Given the description of an element on the screen output the (x, y) to click on. 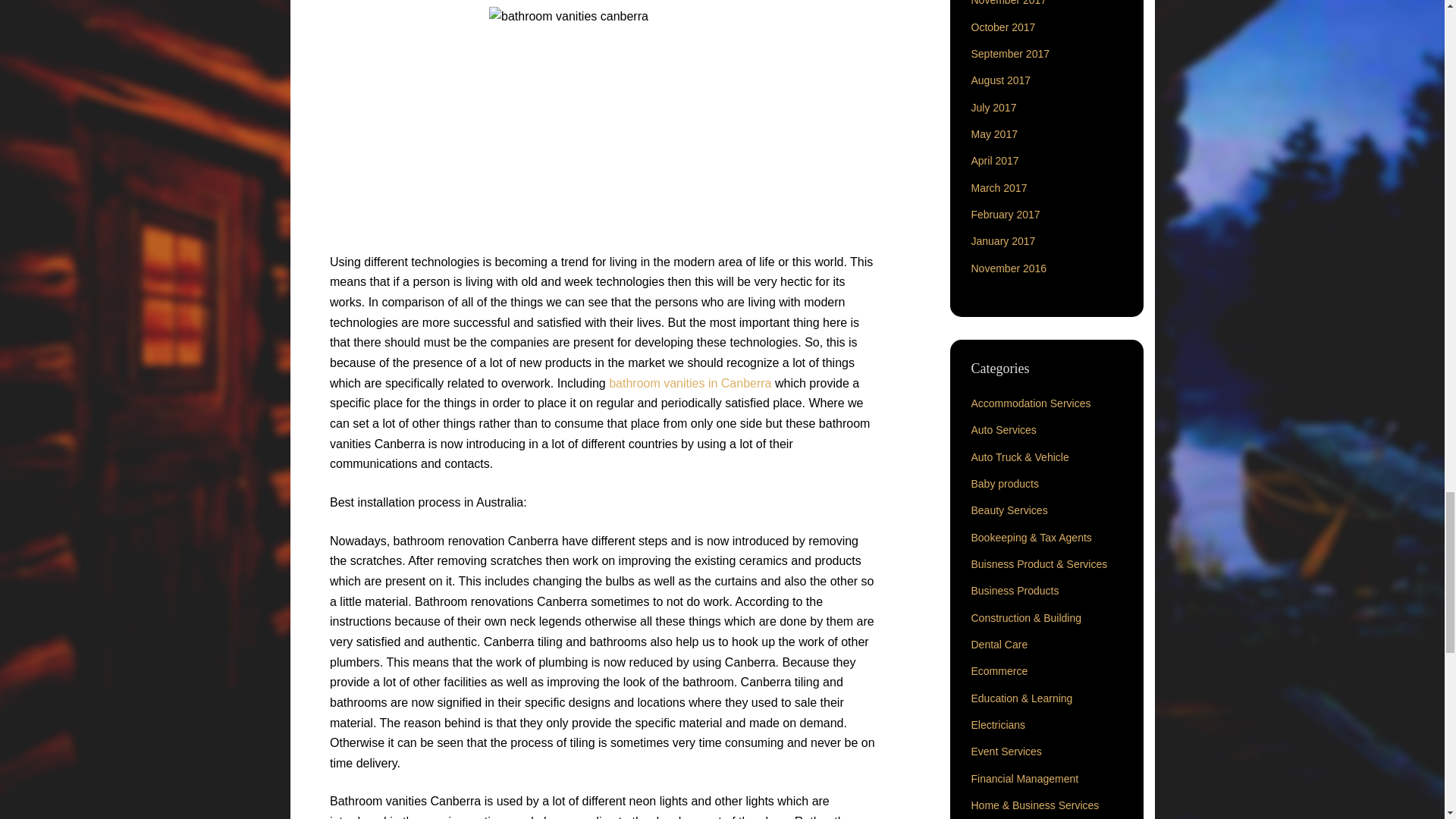
bathroom vanities in Canberra (688, 382)
bathroom vanities canberra (602, 120)
bathroom vanities in Canberra (688, 382)
